Given the description of an element on the screen output the (x, y) to click on. 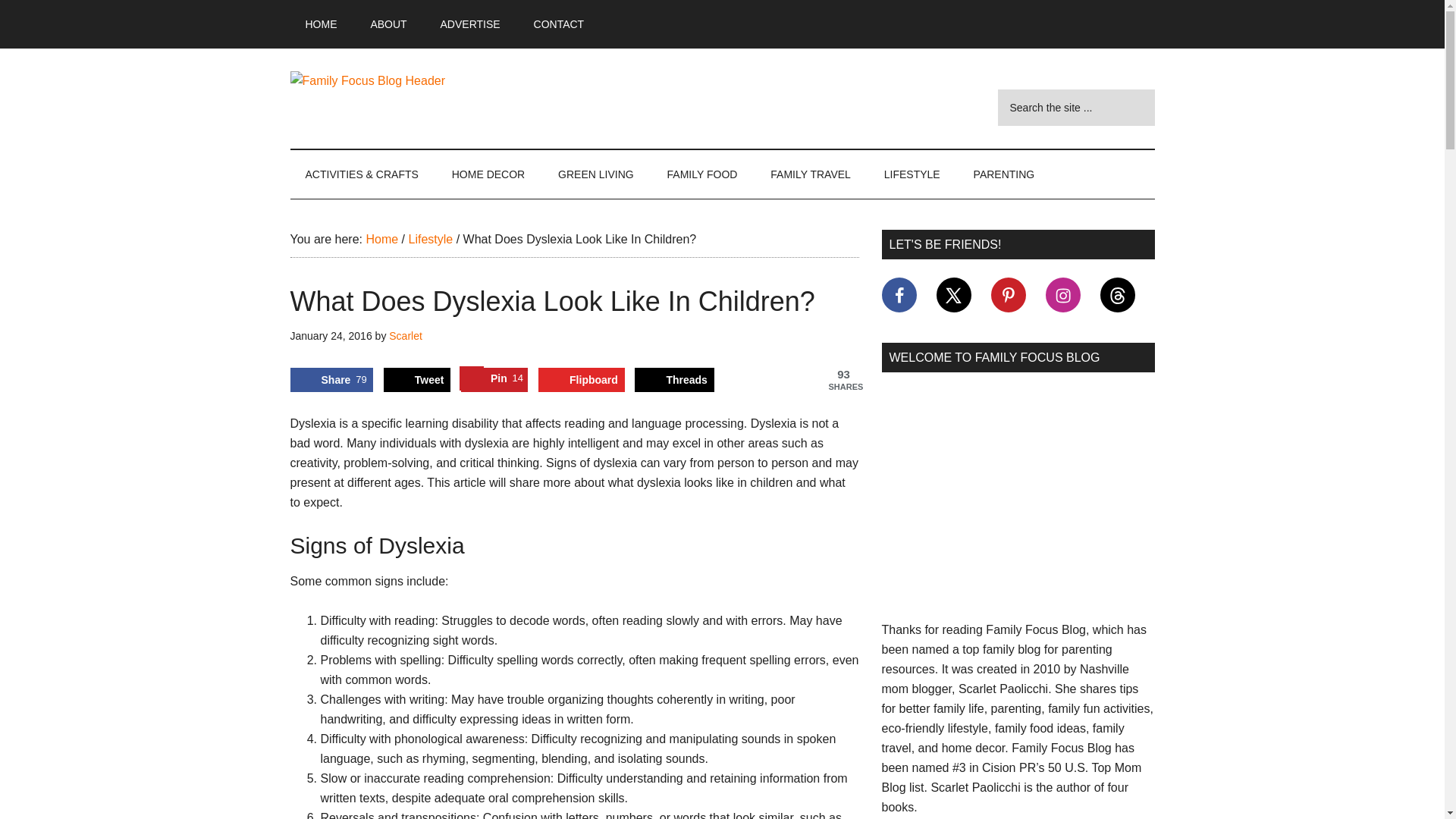
Home (381, 238)
Follow on Pinterest (1007, 294)
Follow on Instagram (1062, 294)
Follow on X (953, 294)
Save to Pinterest (494, 379)
ABOUT (388, 24)
Tweet (417, 379)
